Given the description of an element on the screen output the (x, y) to click on. 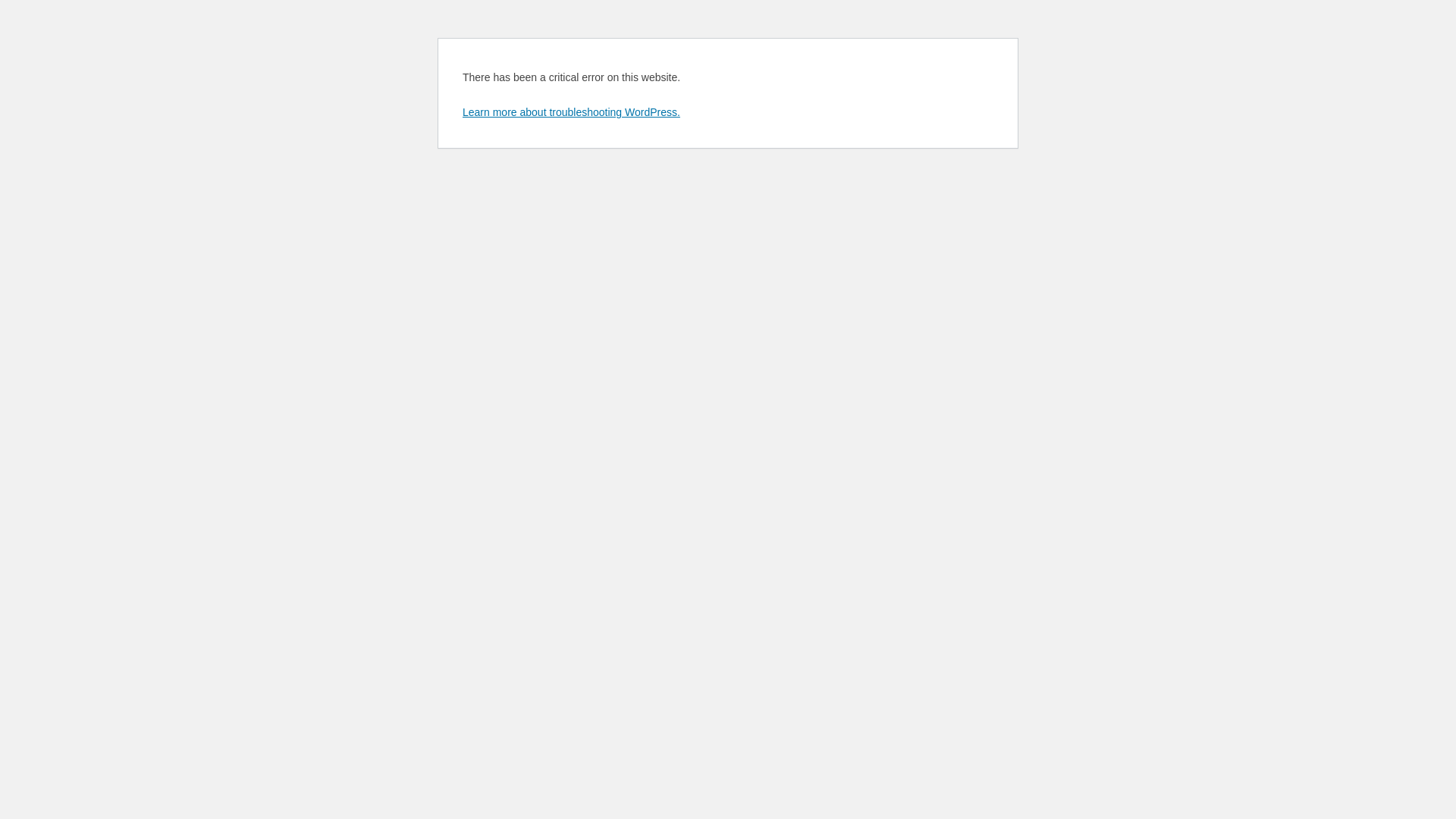
Learn more about troubleshooting WordPress. Element type: text (571, 112)
